Given the description of an element on the screen output the (x, y) to click on. 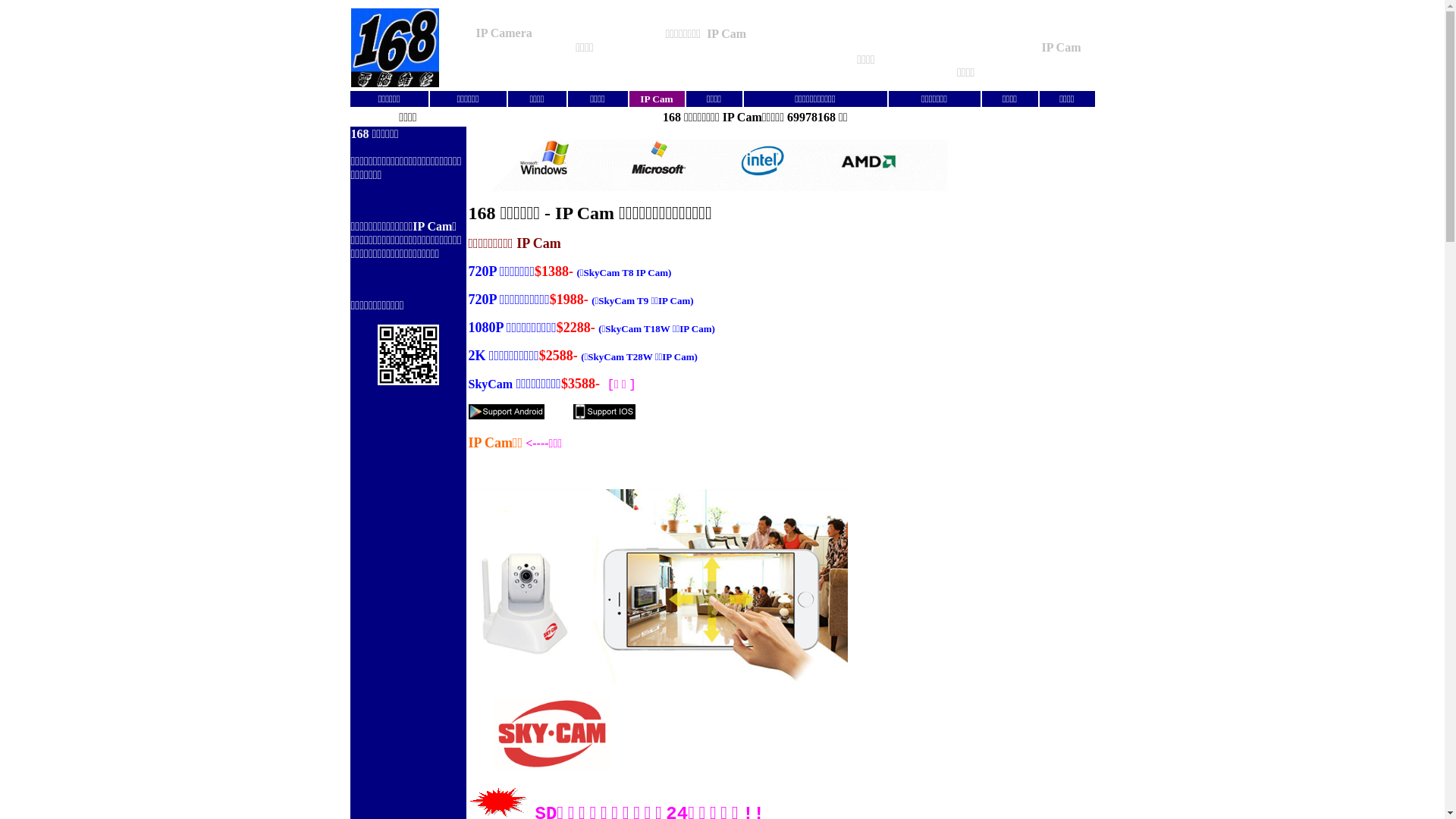
IP Cam Element type: text (656, 99)
